Given the description of an element on the screen output the (x, y) to click on. 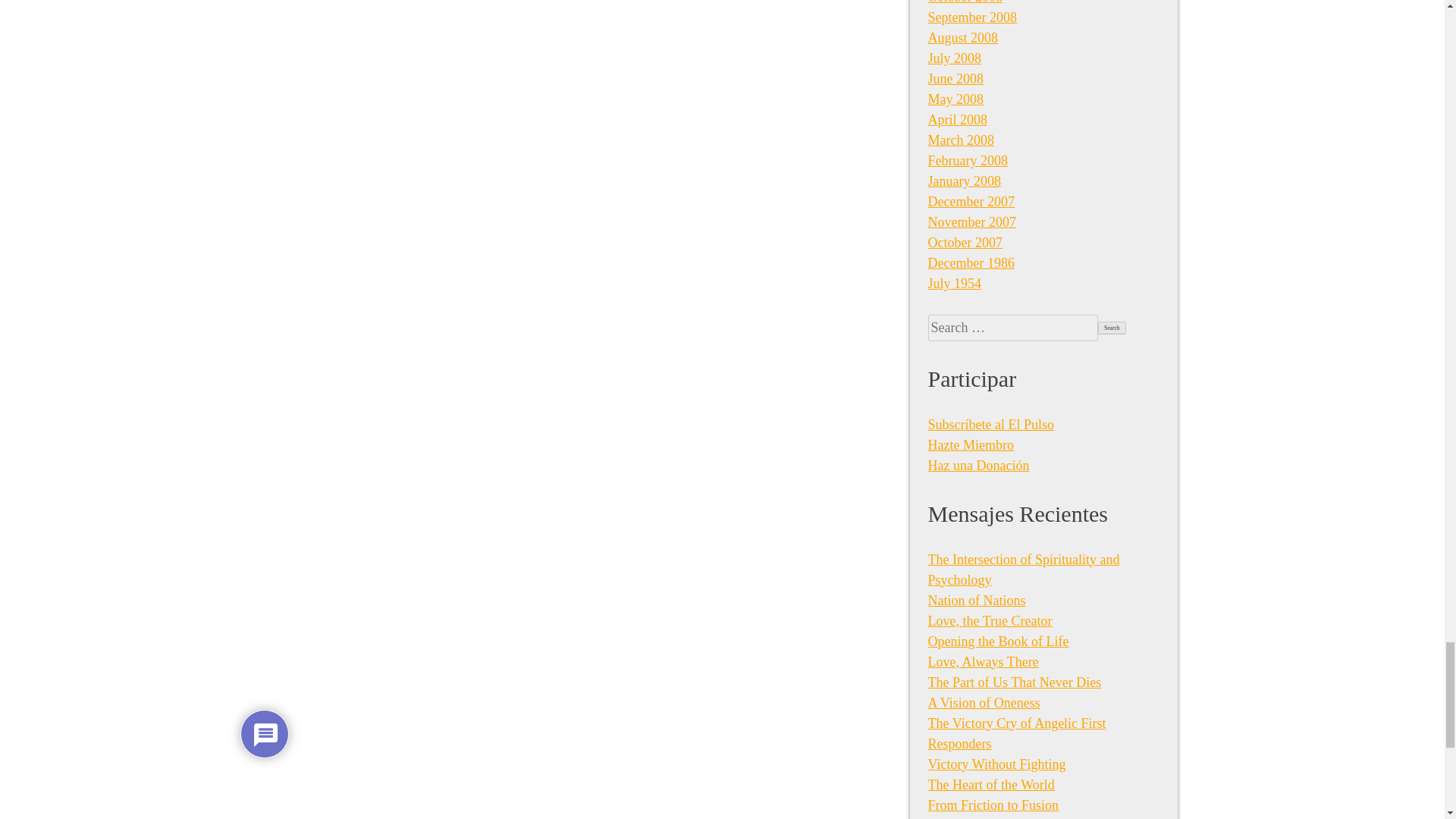
Search (1111, 327)
Search (1111, 327)
